Given the description of an element on the screen output the (x, y) to click on. 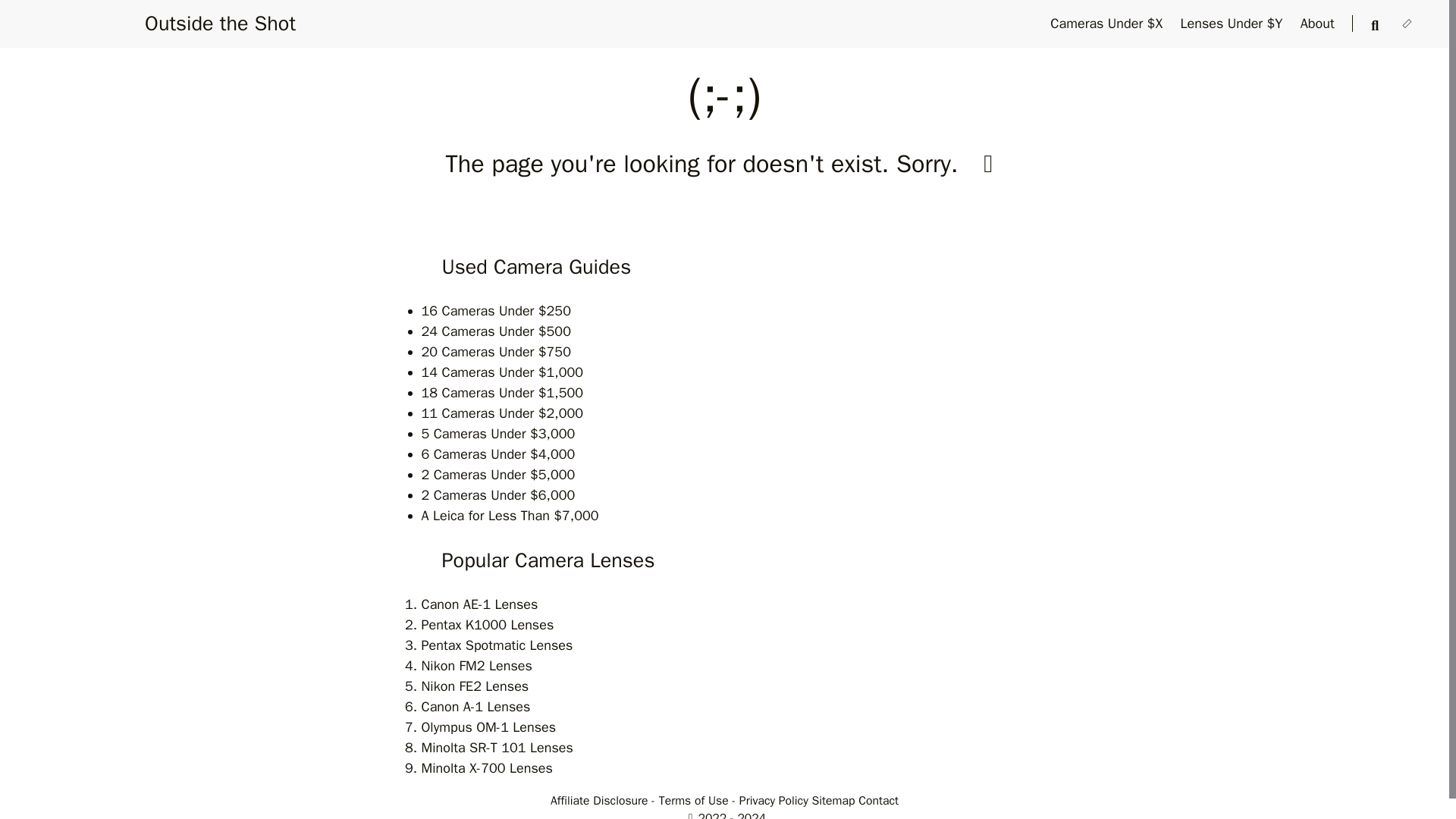
Terms of Use - (697, 800)
Minolta SR-T 101 Lenses (497, 747)
Nikon FM2 Lenses (477, 665)
Back (988, 163)
Olympus OM-1 Lenses (489, 727)
Affiliate Disclosure (602, 800)
About (1319, 23)
Switch Theme (1406, 23)
terms of use (773, 800)
Nikon FE2 Lenses (475, 686)
